Given the description of an element on the screen output the (x, y) to click on. 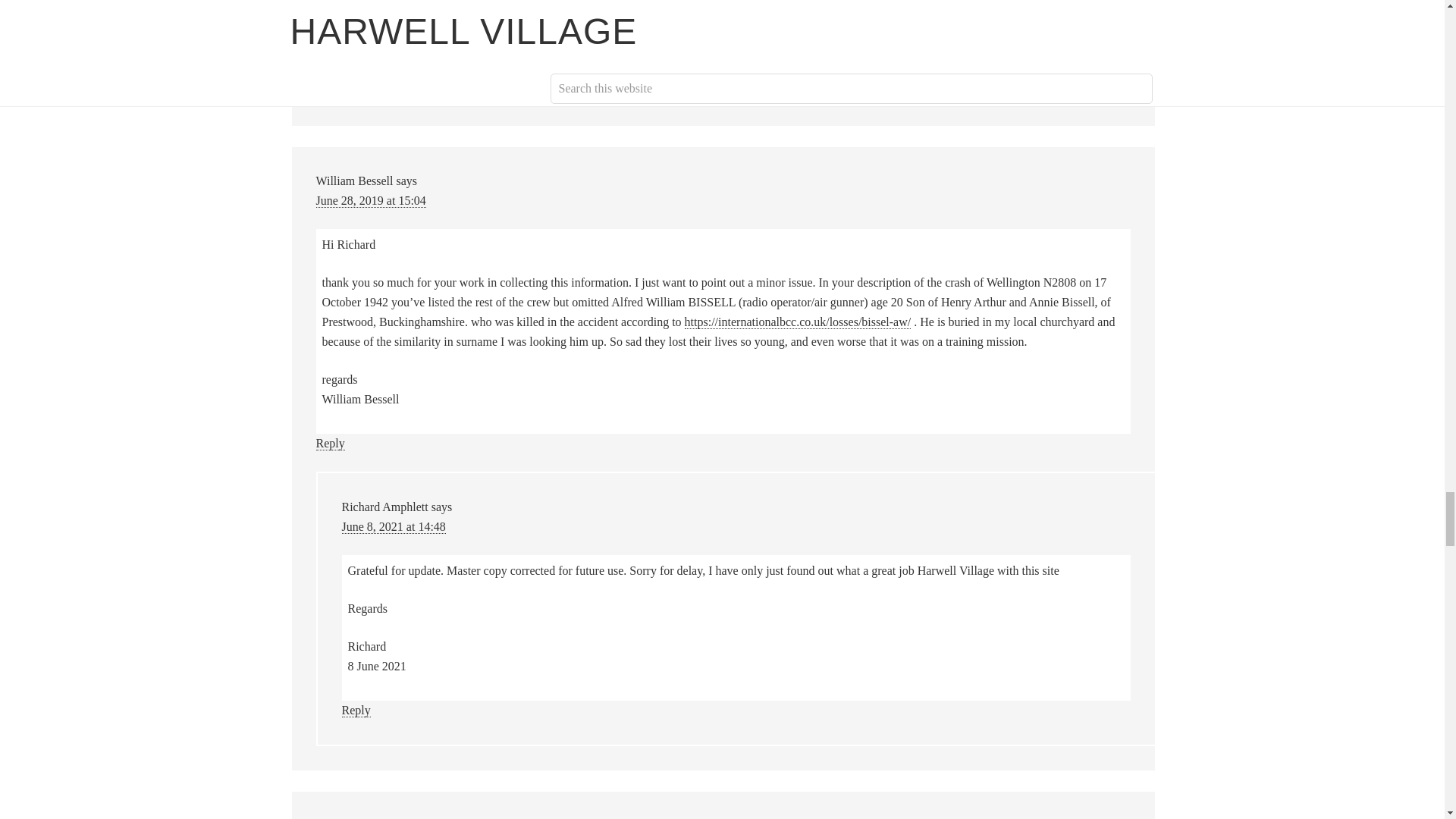
June 28, 2019 at 15:04 (370, 201)
Reply (354, 710)
June 8, 2021 at 14:48 (392, 526)
Reply (329, 91)
Reply (329, 443)
